Given the description of an element on the screen output the (x, y) to click on. 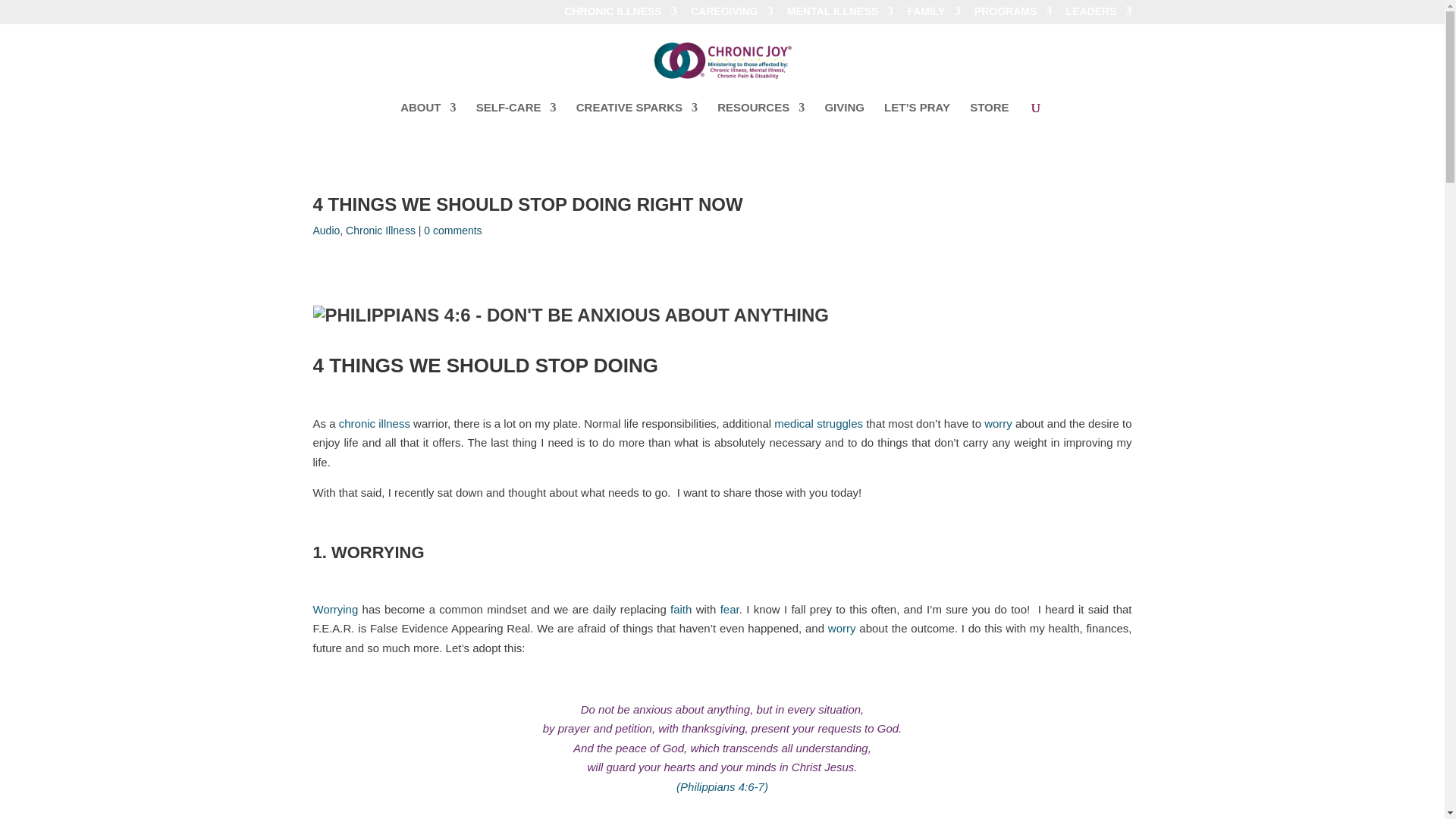
LEADERS (1098, 15)
CHRONIC ILLNESS (620, 15)
PROGRAMS (1012, 15)
FAMILY (933, 15)
ABOUT (427, 118)
CAREGIVING (731, 15)
SELF-CARE (516, 118)
MENTAL ILLNESS (840, 15)
